Given the description of an element on the screen output the (x, y) to click on. 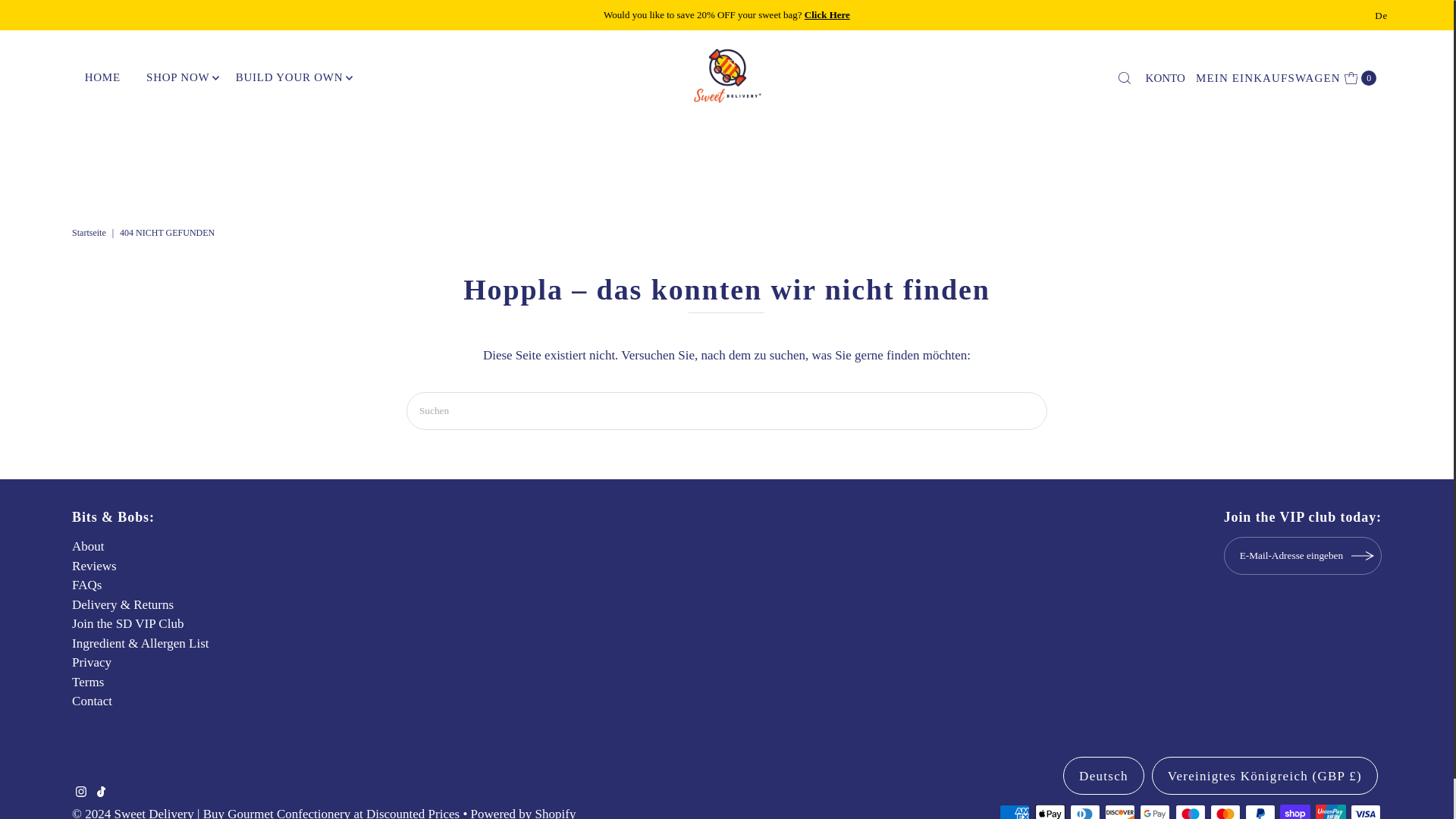
American Express (1013, 811)
Visa (1365, 811)
Discover (1120, 811)
PayPal (1259, 811)
Diners Club (1085, 811)
Click Here (827, 14)
Union Pay (1330, 811)
Startseite (90, 232)
Maestro (1189, 811)
Shop Pay (1294, 811)
